Given the description of an element on the screen output the (x, y) to click on. 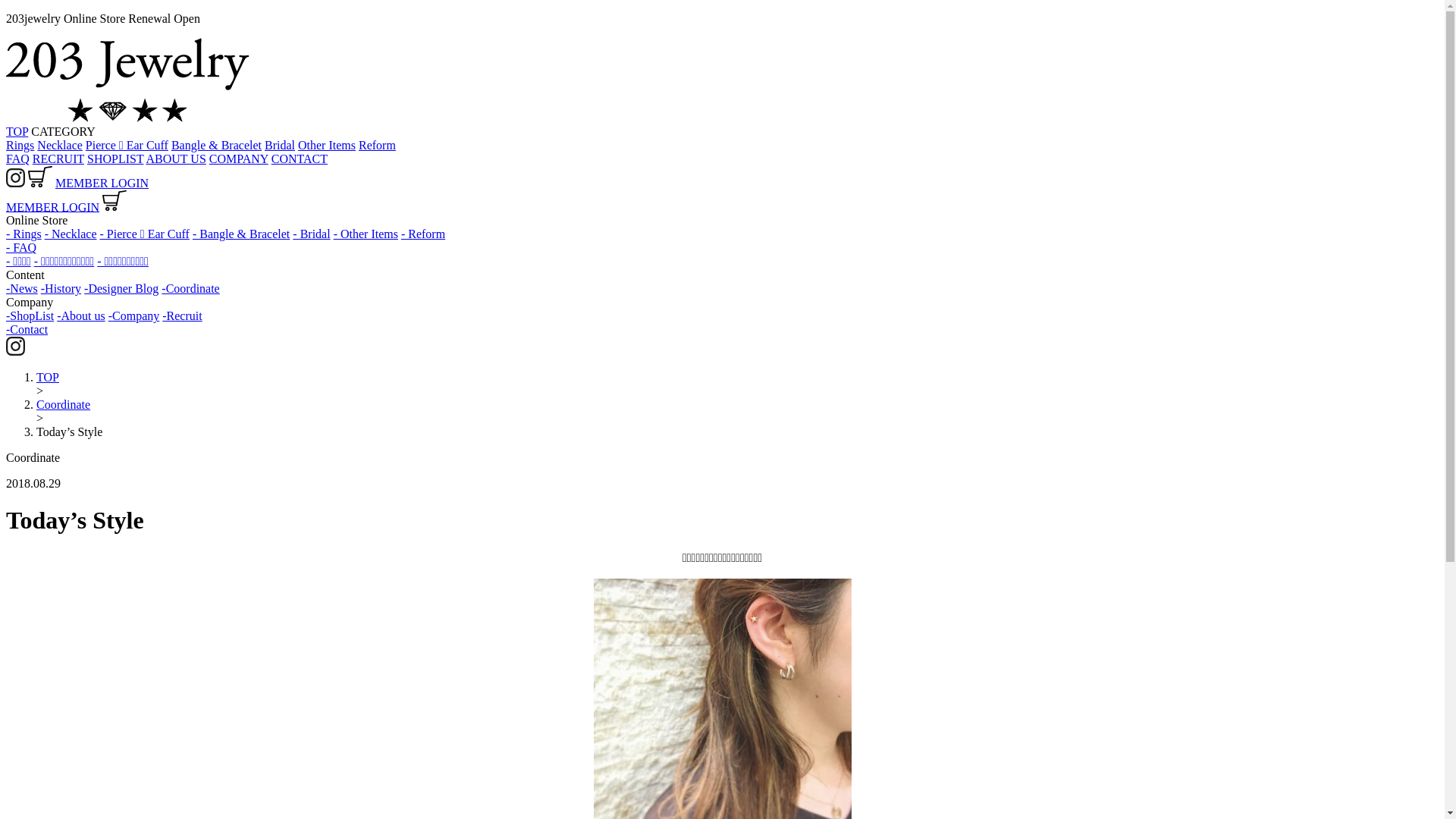
CONTACT Element type: text (299, 158)
TOP Element type: text (47, 376)
- Rings Element type: text (23, 233)
RECRUIT Element type: text (58, 158)
- Reform Element type: text (423, 233)
- Bridal Element type: text (310, 233)
- FAQ Element type: text (21, 247)
Bangle & Bracelet Element type: text (216, 144)
- Bangle & Bracelet Element type: text (240, 233)
Reform Element type: text (376, 144)
FAQ Element type: text (17, 158)
-ShopList Element type: text (29, 315)
Rings Element type: text (20, 144)
- Necklace Element type: text (70, 233)
-Designer Blog Element type: text (121, 288)
-About us Element type: text (80, 315)
SHOPLIST Element type: text (115, 158)
MEMBER LOGIN Element type: text (52, 206)
-History Element type: text (60, 288)
-Company Element type: text (134, 315)
-News Element type: text (21, 288)
-Coordinate Element type: text (190, 288)
ABOUT US Element type: text (175, 158)
Other Items Element type: text (326, 144)
-Recruit Element type: text (181, 315)
MEMBER LOGIN Element type: text (101, 182)
Bridal Element type: text (279, 144)
- Other Items Element type: text (365, 233)
Coordinate Element type: text (63, 404)
Necklace Element type: text (59, 144)
TOP Element type: text (17, 131)
COMPANY Element type: text (238, 158)
-Contact Element type: text (26, 329)
